Given the description of an element on the screen output the (x, y) to click on. 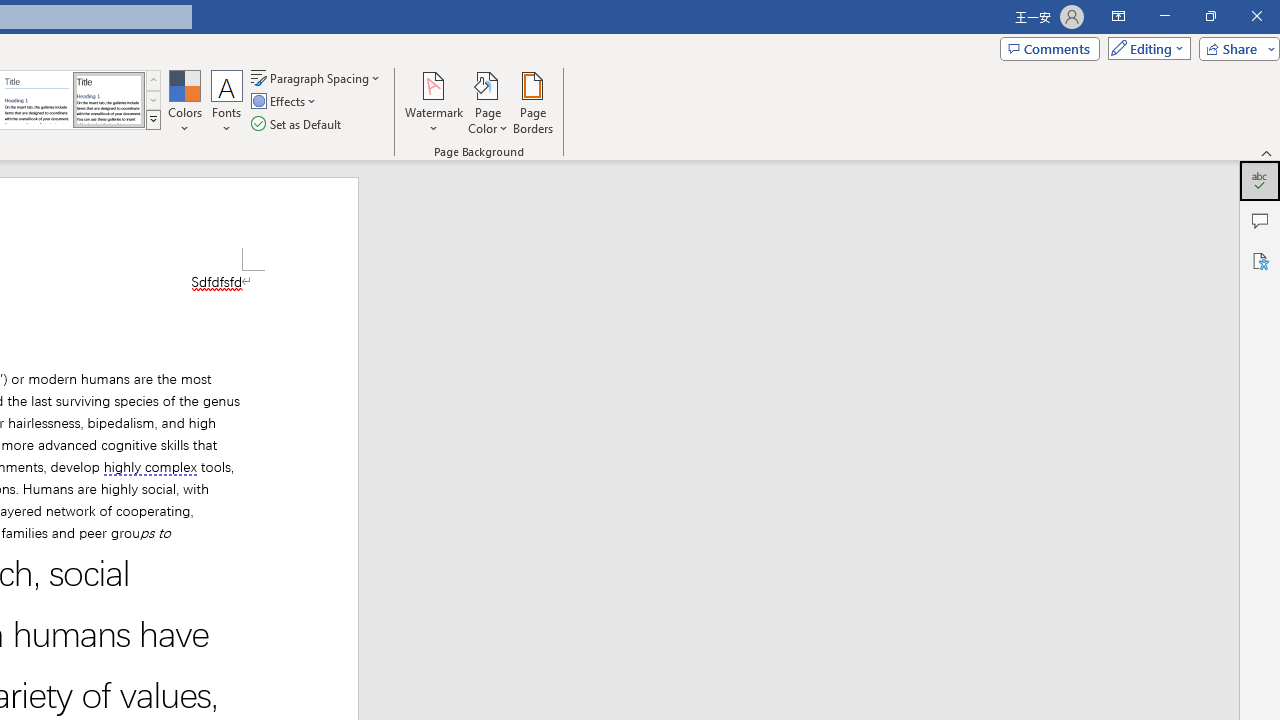
Set as Default (298, 124)
Watermark (434, 102)
Effects (285, 101)
Word 2013 (108, 100)
